Given the description of an element on the screen output the (x, y) to click on. 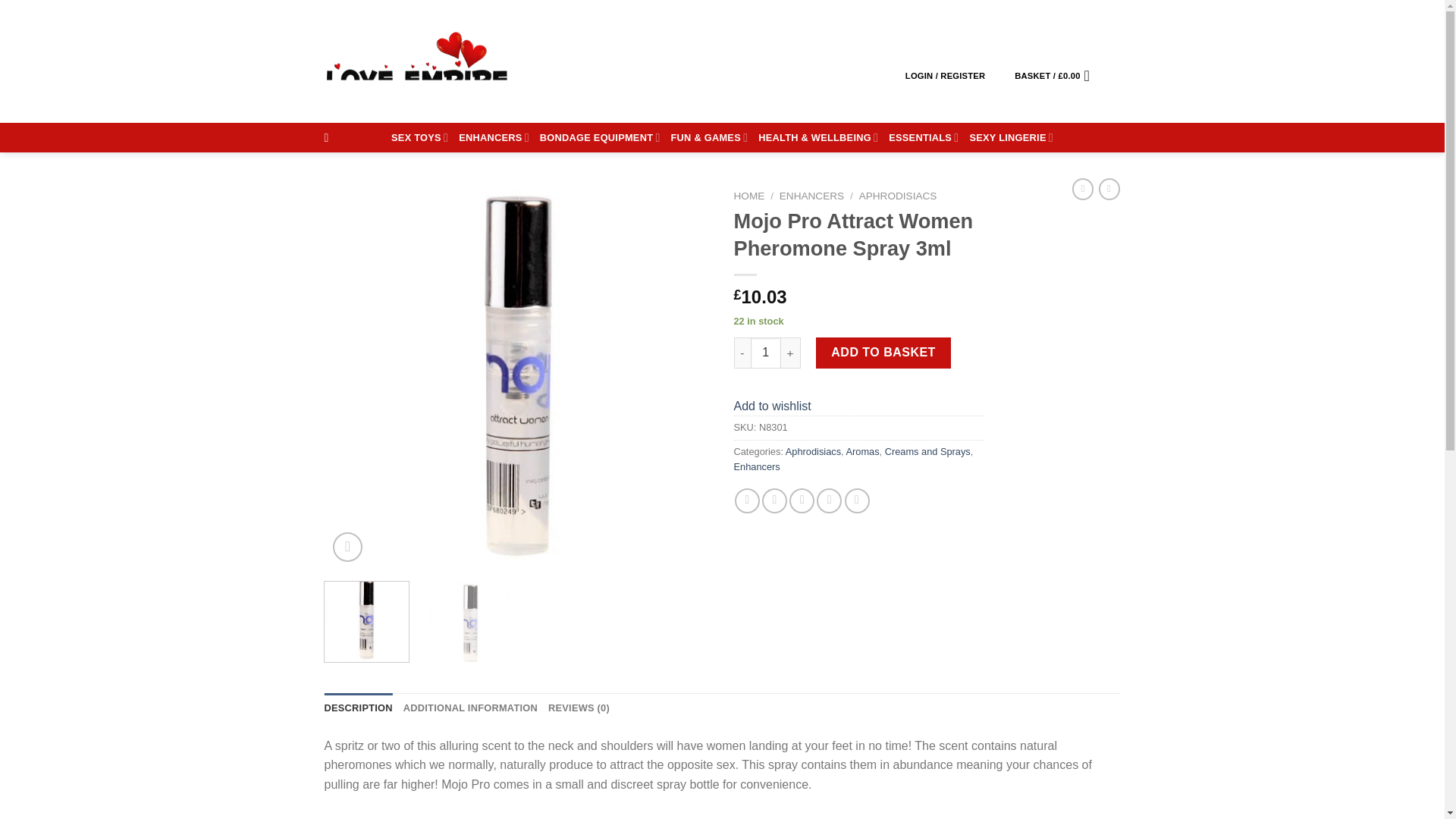
Email to a Friend (801, 500)
Basket (1057, 74)
Qty (765, 352)
1 (765, 352)
Share on Twitter (774, 500)
Share on Facebook (747, 500)
Zoom (347, 546)
Love Empire - Love Empire (416, 60)
SEX TOYS (419, 137)
